Given the description of an element on the screen output the (x, y) to click on. 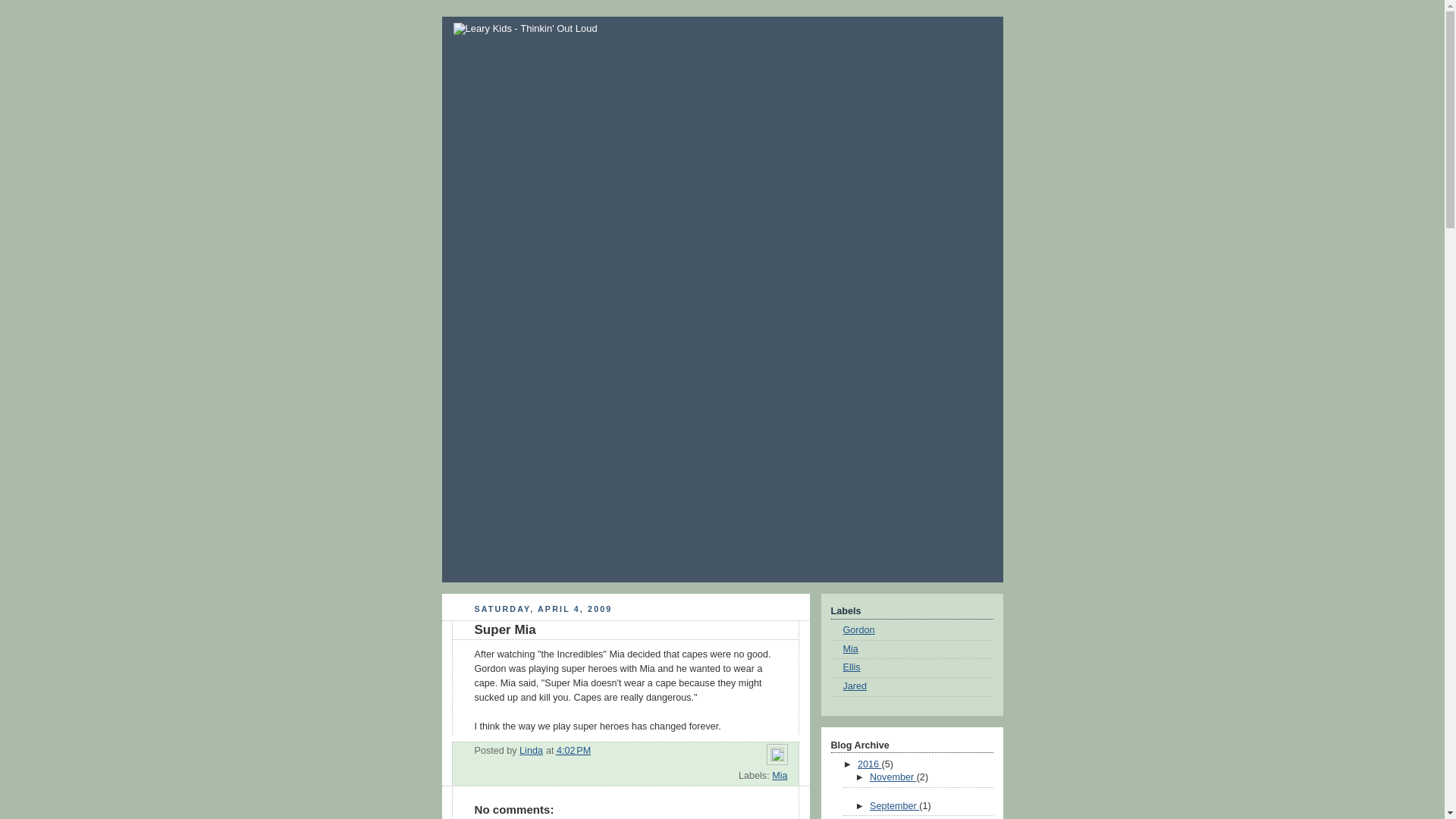
Ellis (851, 666)
Edit Post (776, 757)
2016 (869, 764)
author profile (531, 750)
Mia (779, 775)
November (893, 777)
September (893, 805)
Mia (851, 648)
permanent link (573, 750)
Gordon (859, 629)
Linda (531, 750)
Jared (855, 685)
